Given the description of an element on the screen output the (x, y) to click on. 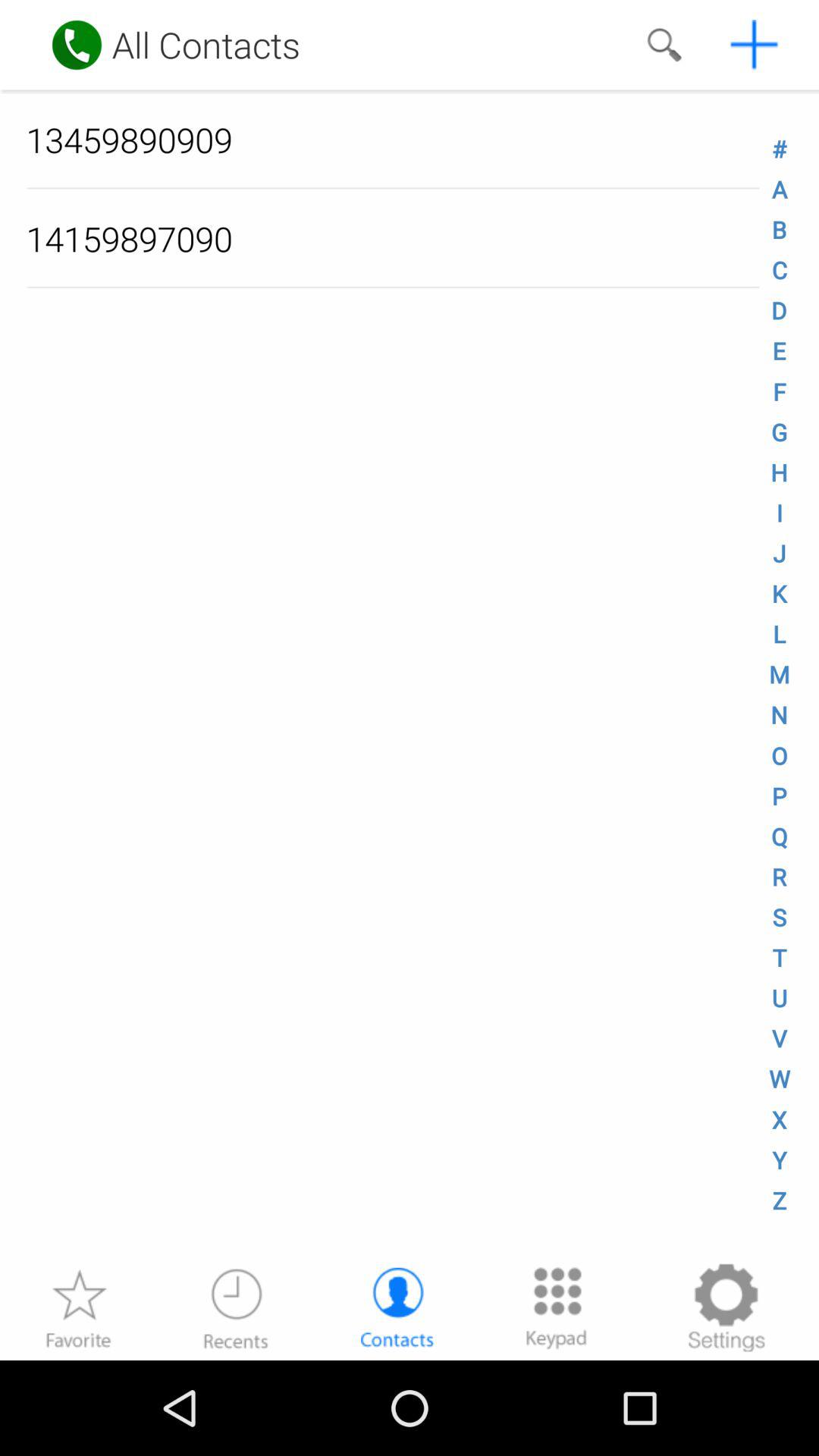
setting buton (725, 1307)
